Given the description of an element on the screen output the (x, y) to click on. 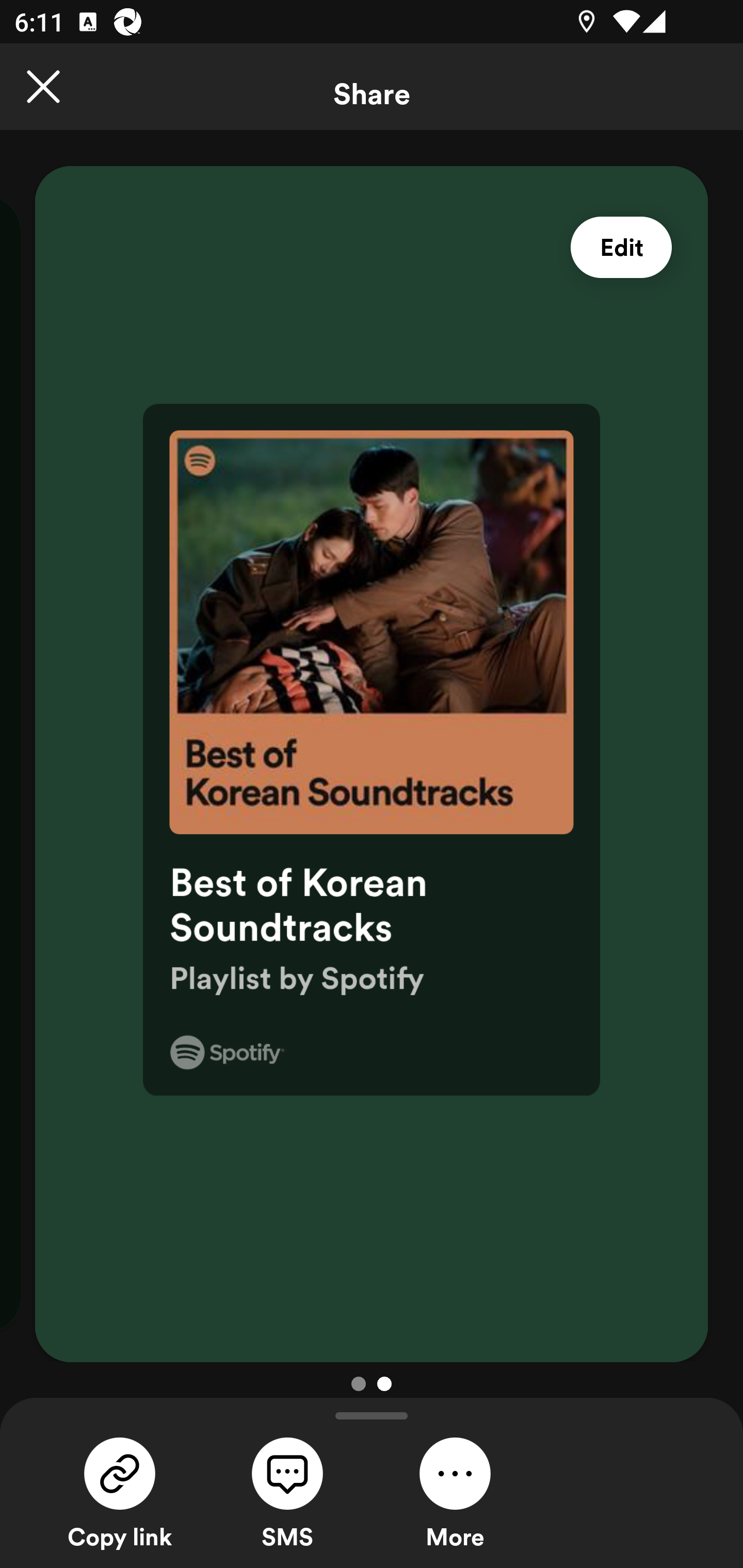
Close the Now Playing View (43, 86)
Edit (620, 247)
Copy share link Copy link (119, 1491)
Share over SMS SMS (287, 1491)
More sharing options More (455, 1491)
